Given the description of an element on the screen output the (x, y) to click on. 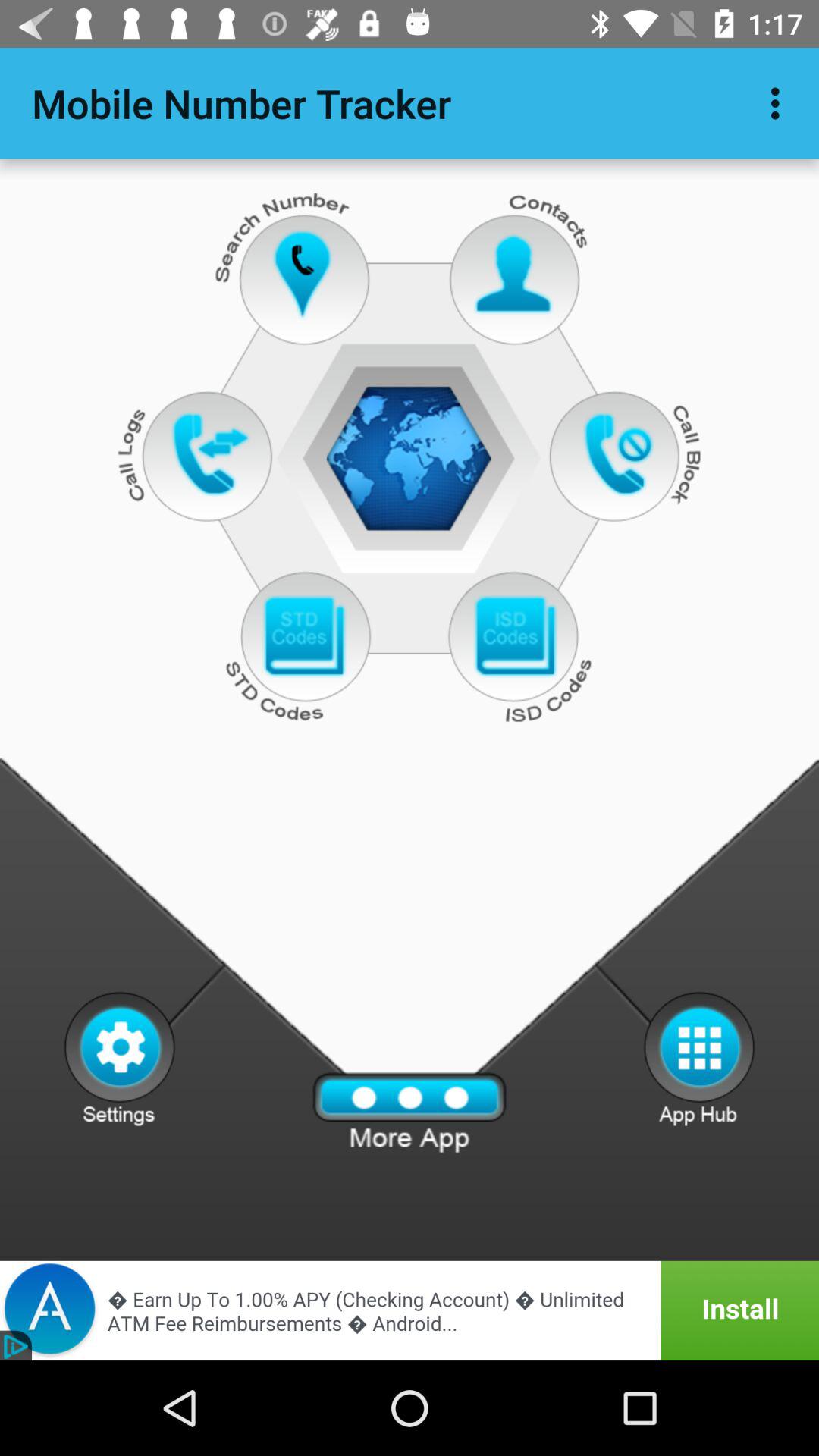
isd codes button (514, 637)
